Given the description of an element on the screen output the (x, y) to click on. 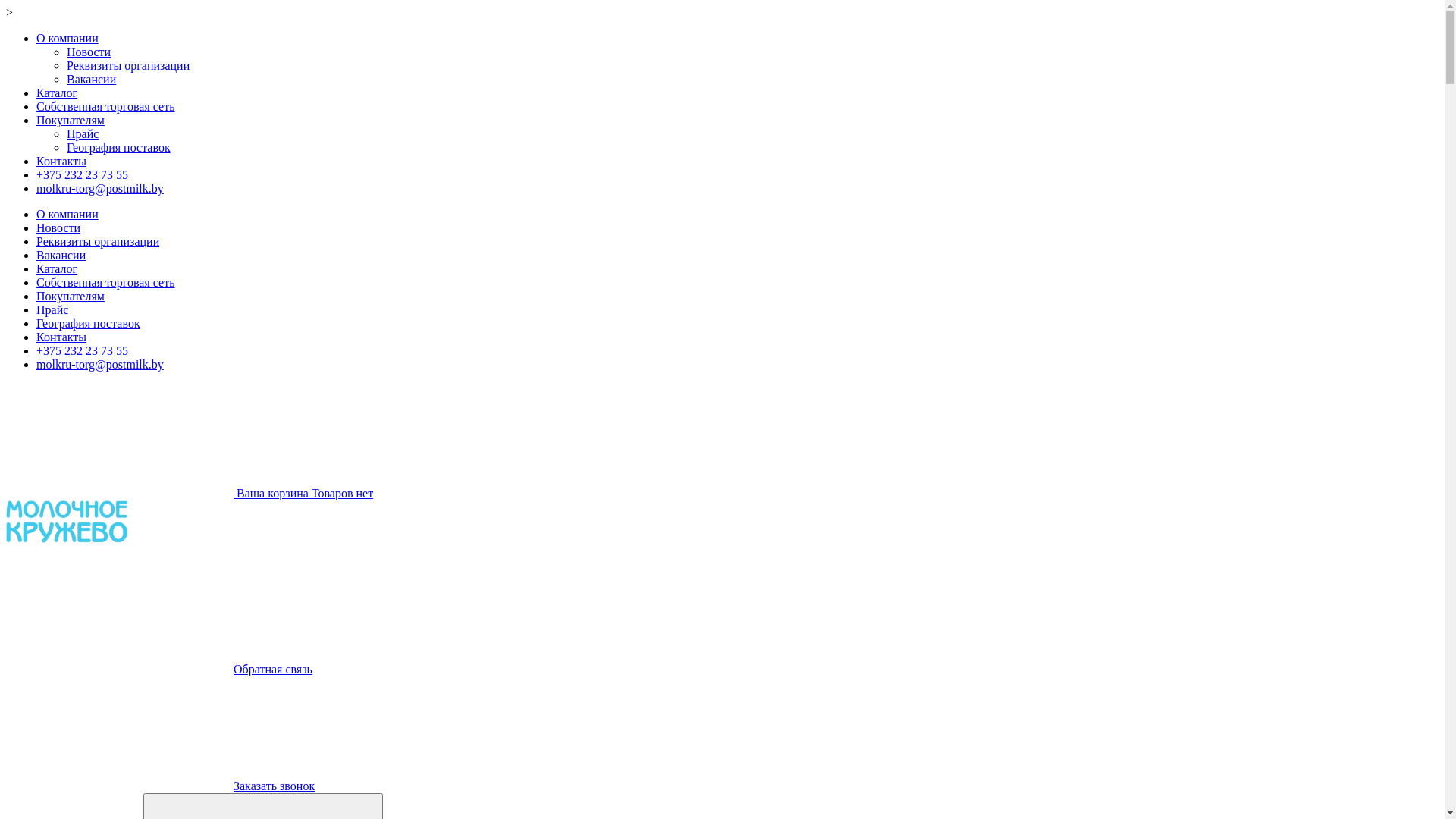
+375 232 23 73 55 Element type: text (82, 174)
+375 232 23 73 55 Element type: text (82, 350)
molkru-torg@postmilk.by Element type: text (99, 363)
+375 232 23 73 55 Element type: text (737, 175)
molkru-torg@postmilk.by Element type: text (99, 188)
molkru-torg@postmilk.by Element type: text (737, 188)
